Given the description of an element on the screen output the (x, y) to click on. 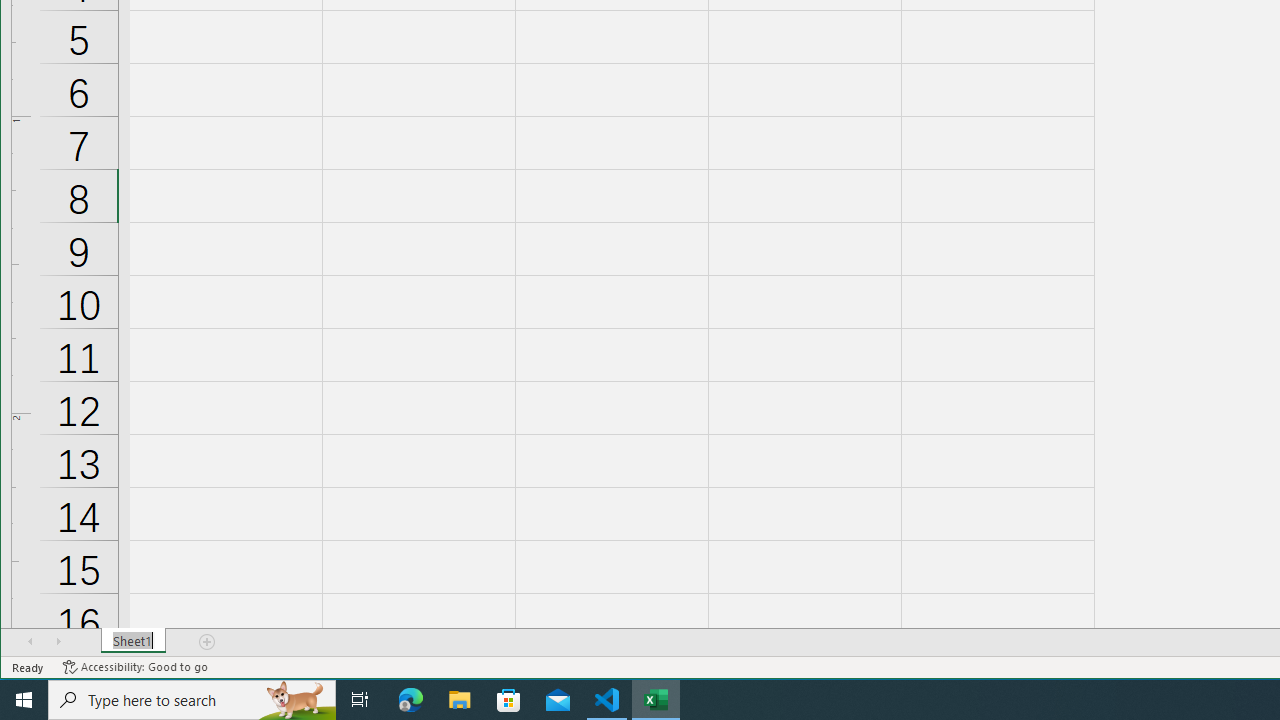
Scroll Right (58, 641)
Microsoft Edge (411, 699)
Add Sheet (207, 641)
Sheet Tab (133, 641)
Scroll Left (30, 641)
Visual Studio Code - 1 running window (607, 699)
Start (24, 699)
File Explorer (460, 699)
Search highlights icon opens search home window (295, 699)
Accessibility Checker Accessibility: Good to go (135, 667)
Excel - 1 running window (656, 699)
Microsoft Store (509, 699)
Sheet1 (133, 641)
Task View (359, 699)
